Given the description of an element on the screen output the (x, y) to click on. 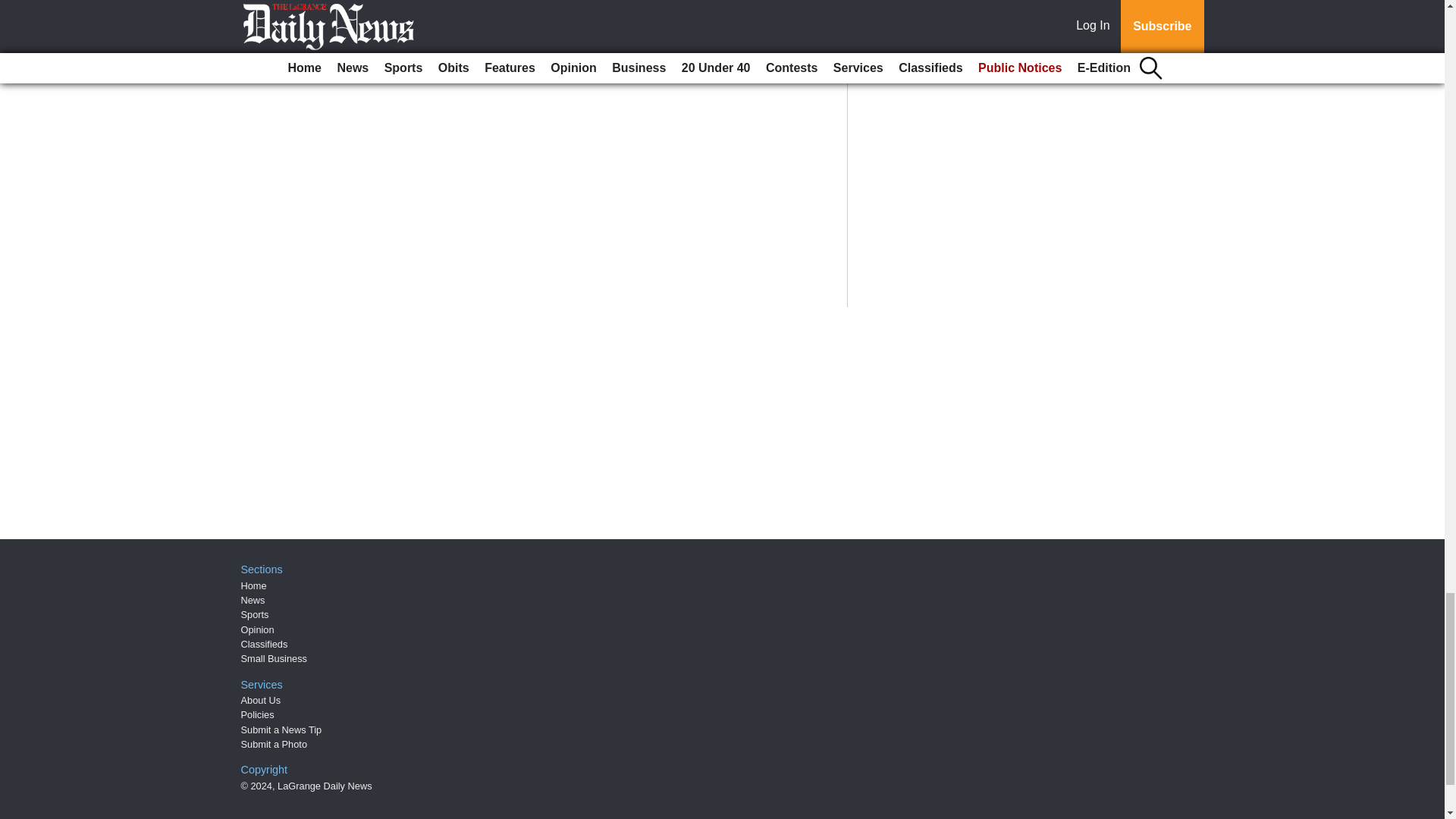
Sports (255, 614)
Home (253, 585)
News (252, 600)
Opinion (258, 629)
